Given the description of an element on the screen output the (x, y) to click on. 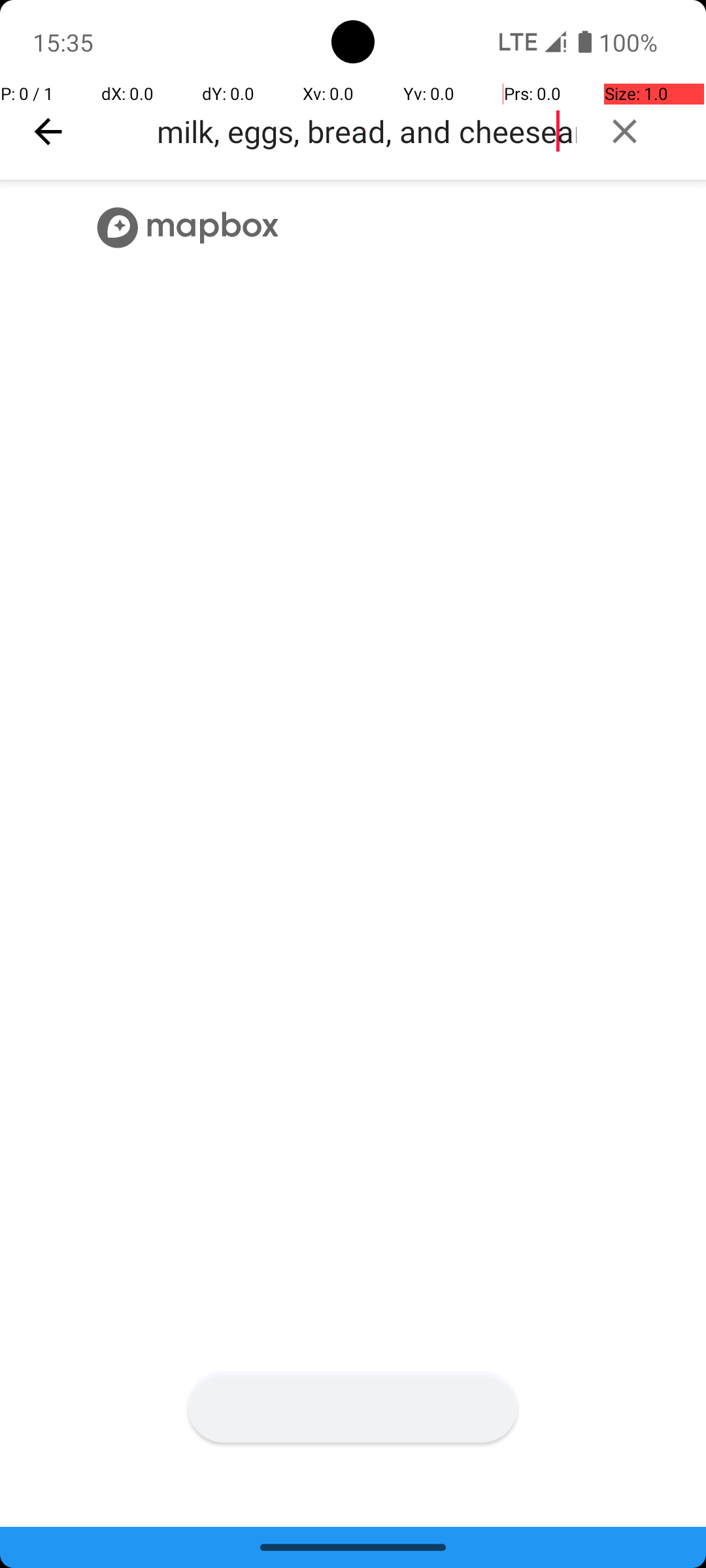
grocery listapples, bananvegetables, carrots, lettuce, milk, eggs, bread, and cheeseand tomatoesas, and oranges Element type: android.widget.AutoCompleteTextView (363, 130)
